Given the description of an element on the screen output the (x, y) to click on. 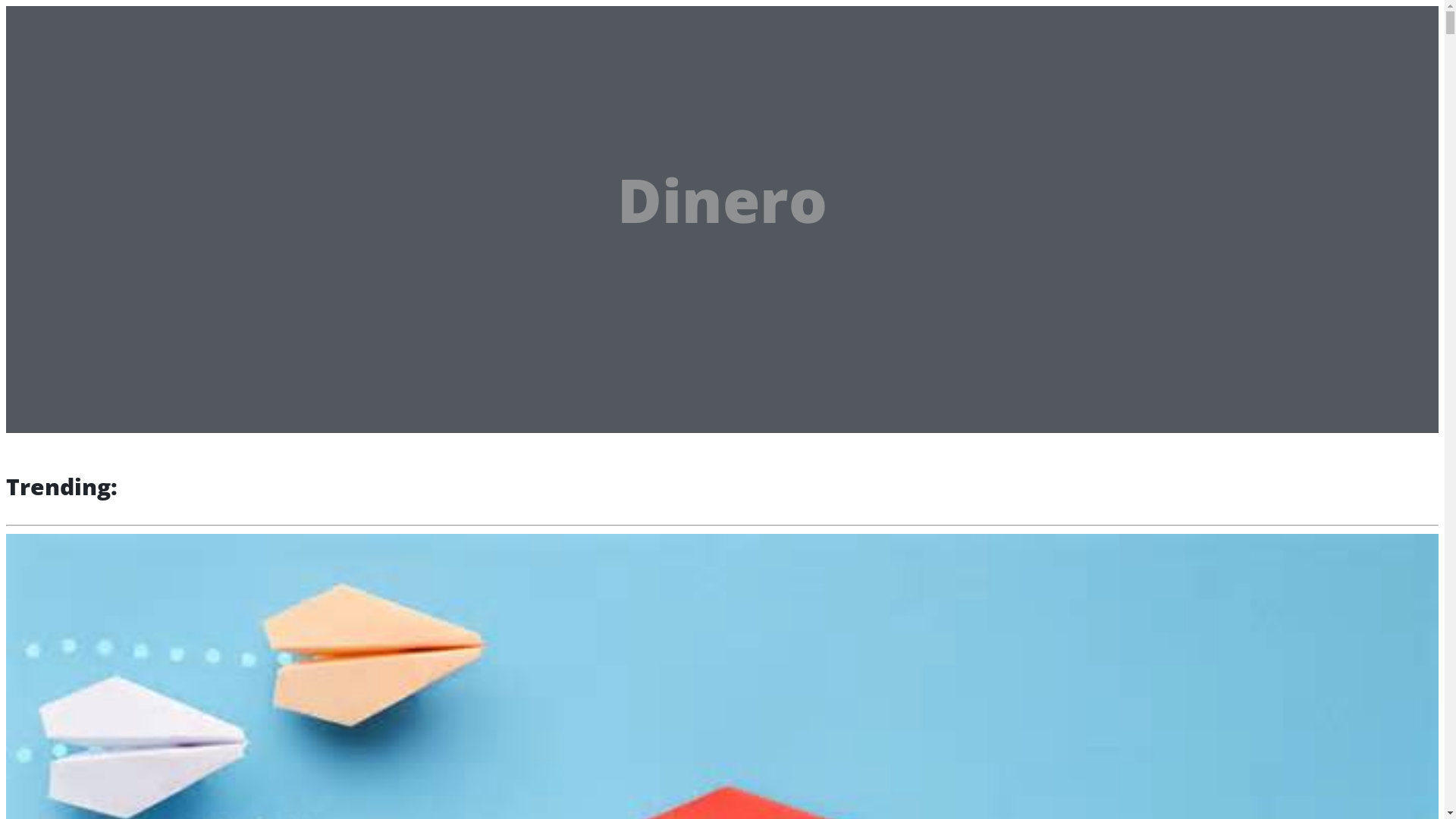
SDFDSF32FSD Element type: text (85, 87)
interieur.cd Element type: text (67, 19)
MENU Element type: text (156, 22)
HOME Element type: text (67, 67)
